Given the description of an element on the screen output the (x, y) to click on. 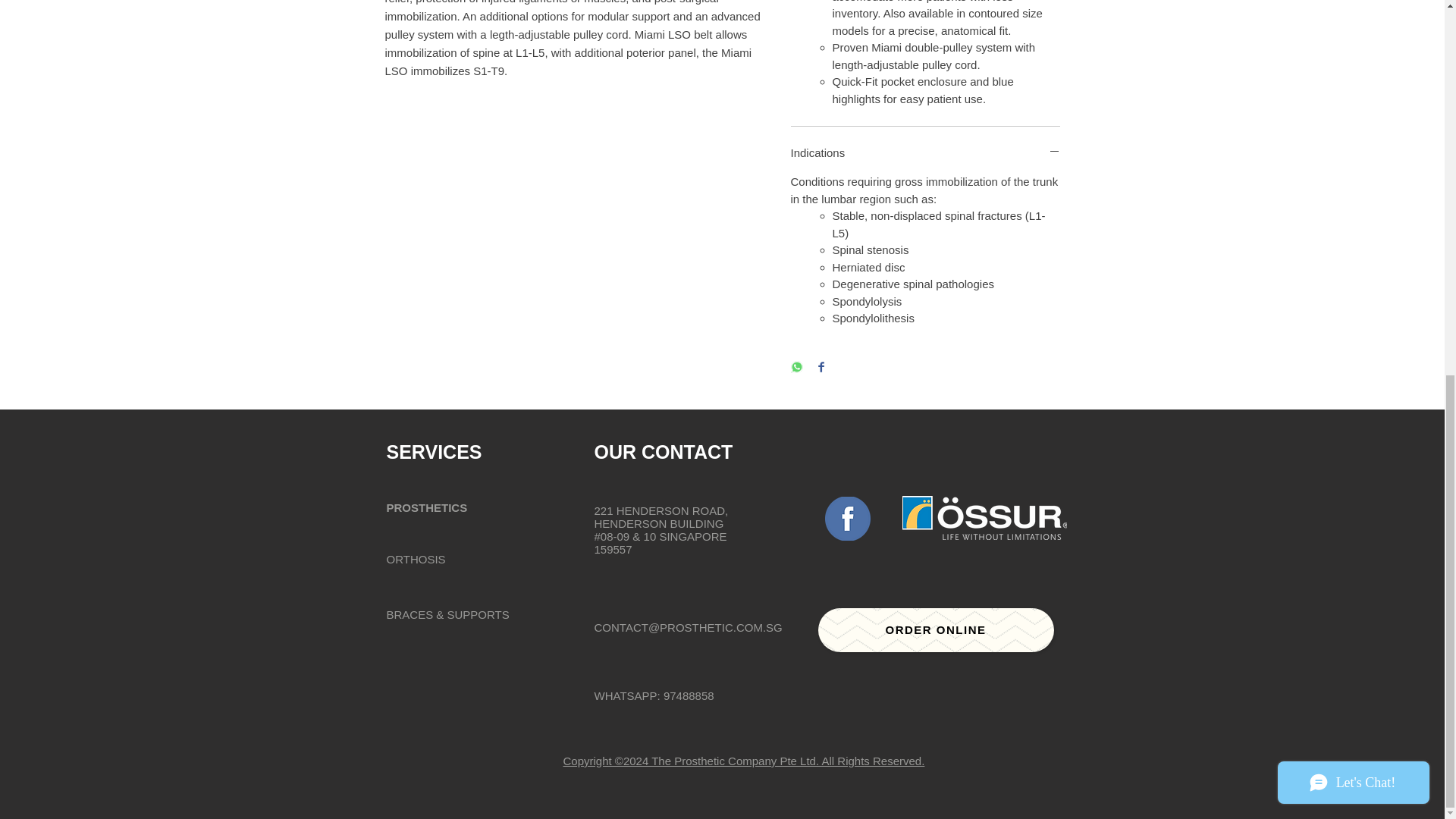
OUR CONTACT (663, 451)
ORDER ONLINE (934, 629)
WHATSAPP: 97488858 (654, 695)
PROSTHETICS (427, 507)
SERVICES (434, 451)
ORTHOSIS (416, 558)
Indications (924, 152)
